Given the description of an element on the screen output the (x, y) to click on. 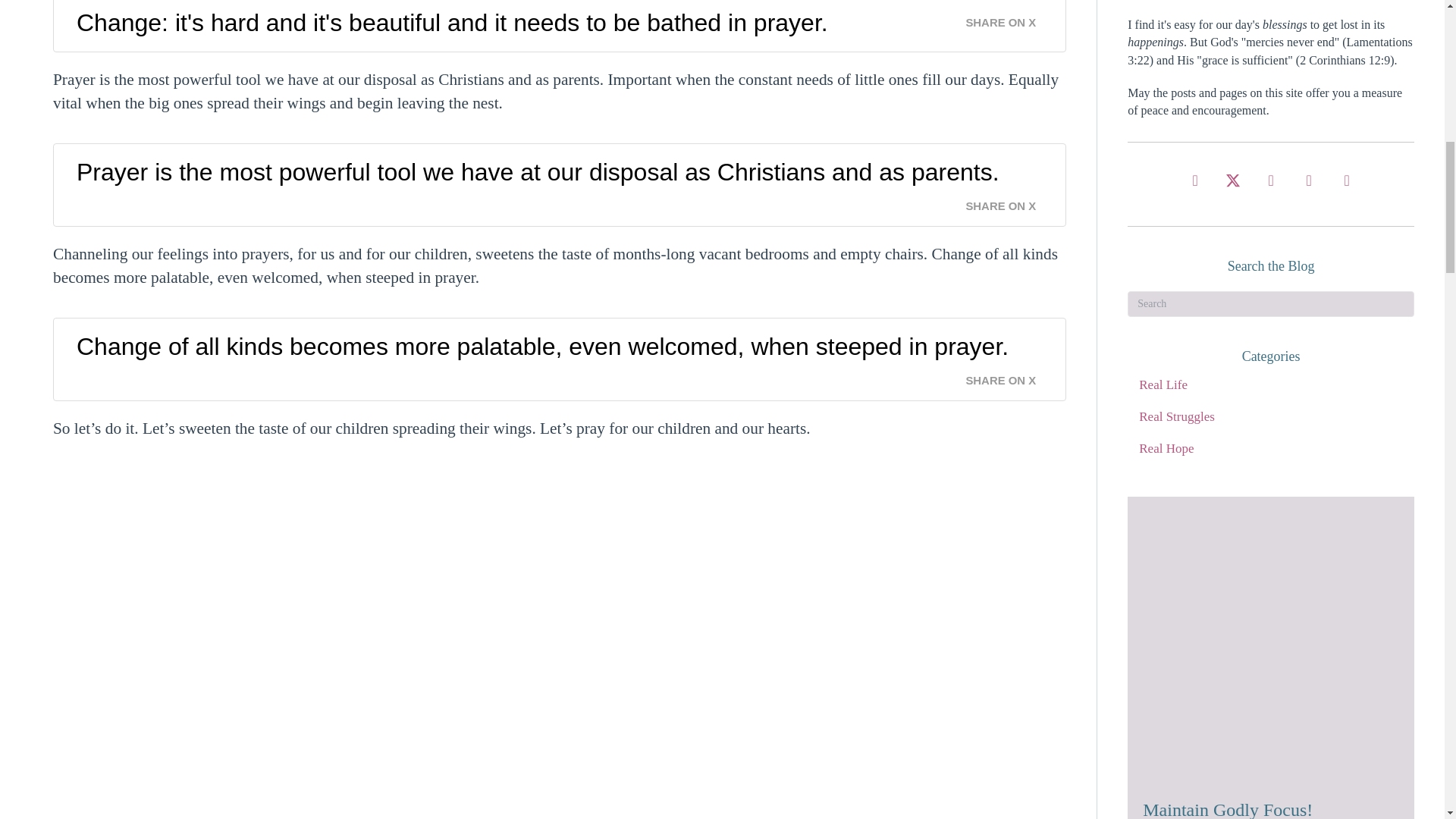
Type and press Enter to search. (1269, 303)
SHARE ON X (1009, 376)
Facebook (1194, 180)
SHARE ON X (1009, 18)
Instagram (1270, 180)
Pinterest (1308, 180)
LinkedIn (1346, 180)
SHARE ON X (1009, 201)
